Given the description of an element on the screen output the (x, y) to click on. 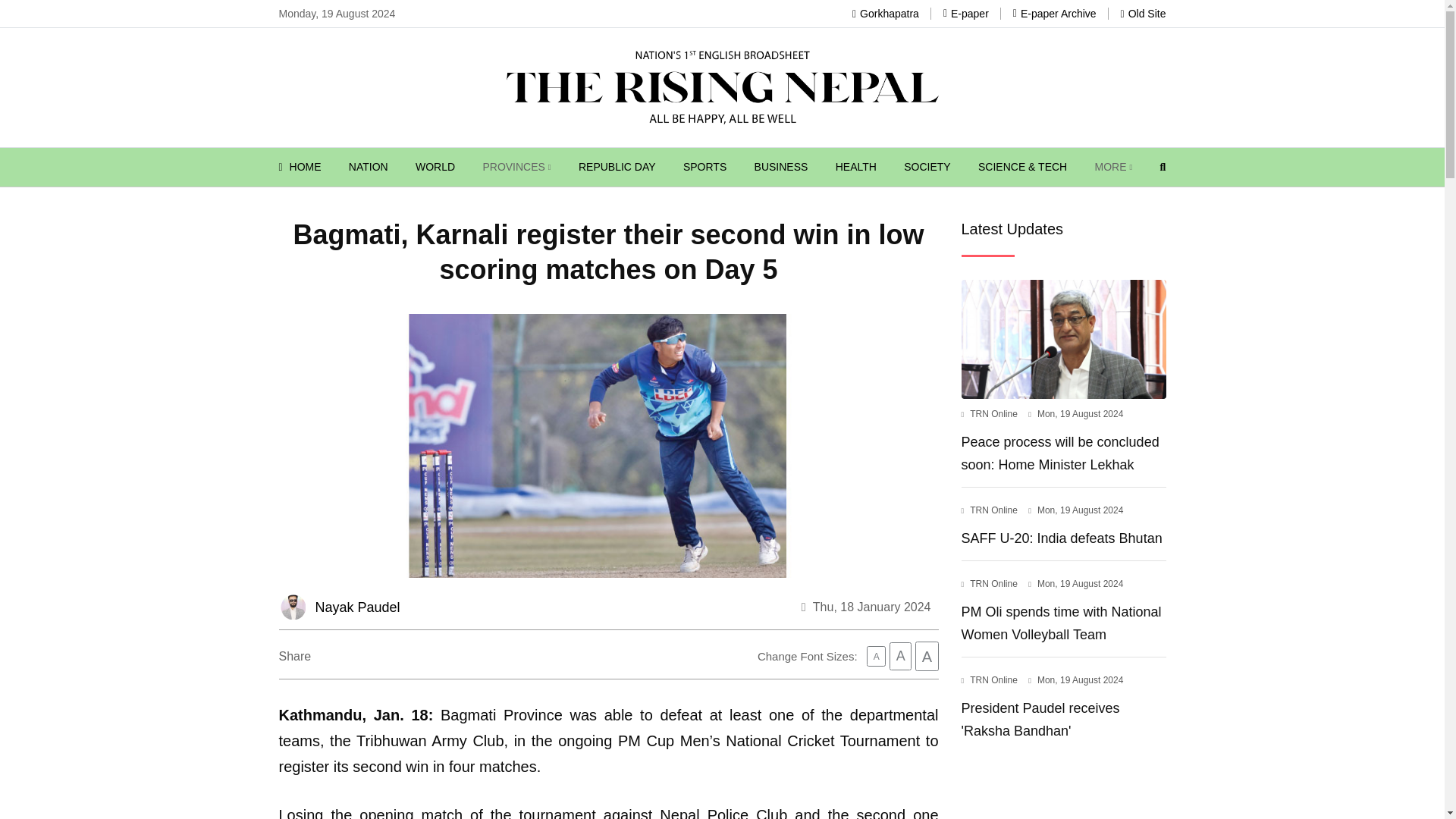
WORLD (434, 166)
SPORTS (704, 166)
E-paper Archive (1054, 13)
A (875, 656)
HOME (300, 167)
BUSINESS (781, 166)
SOCIETY (927, 166)
HEALTH (855, 166)
MORE (1113, 166)
NATION (368, 166)
